Given the description of an element on the screen output the (x, y) to click on. 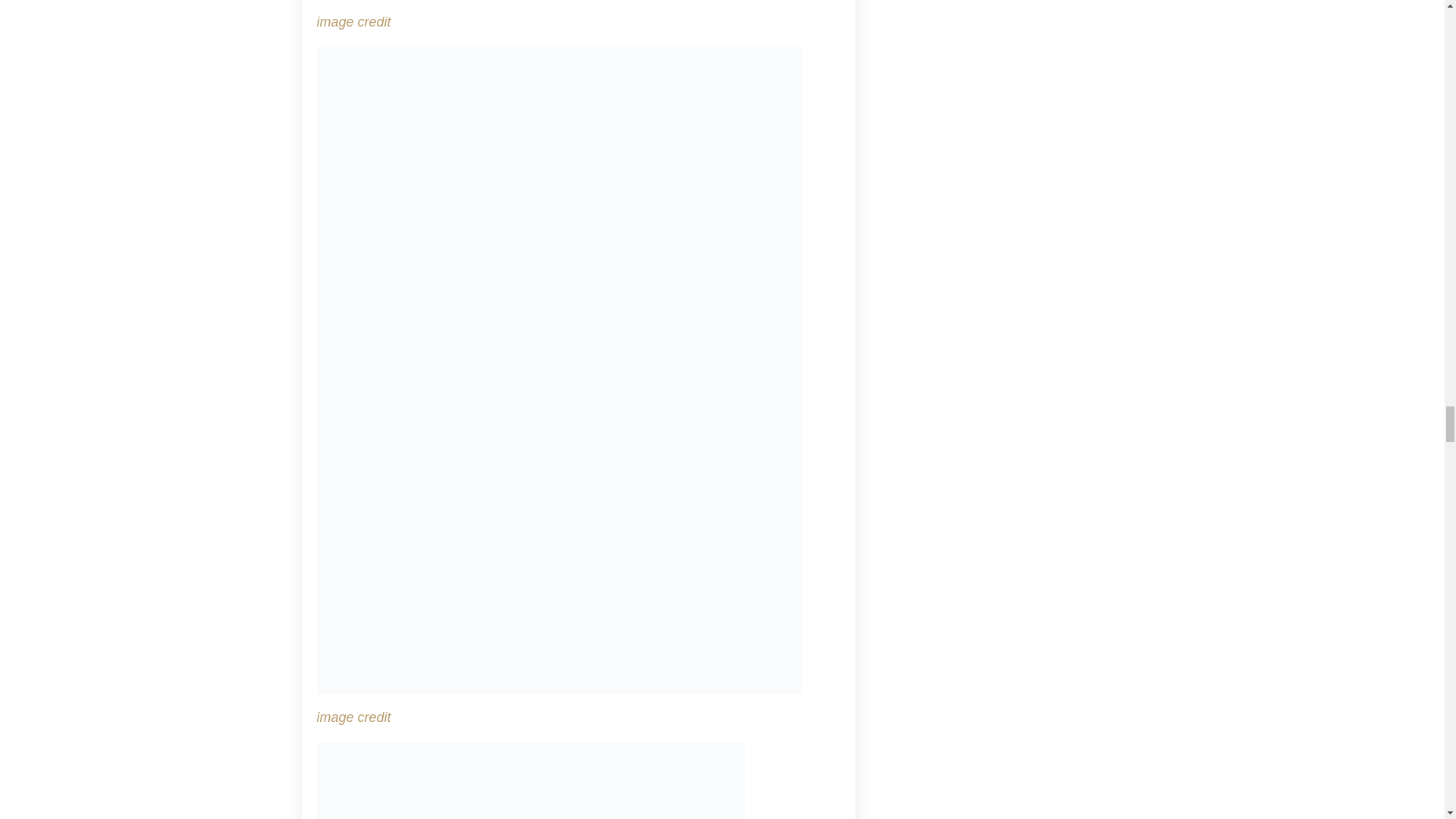
image credit (354, 21)
image credit (354, 717)
